Given the description of an element on the screen output the (x, y) to click on. 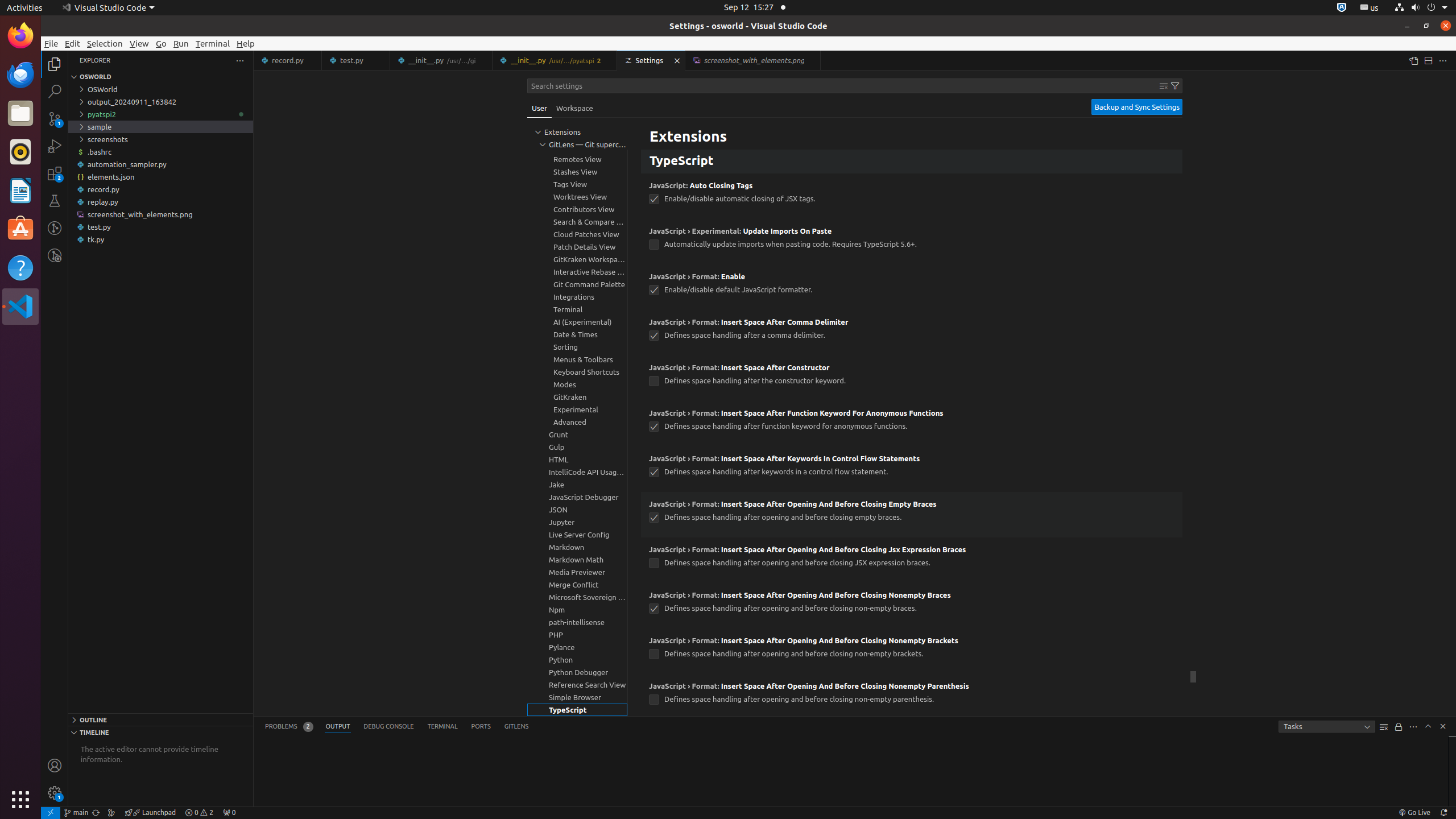
sample Element type: tree-item (160, 126)
OSWorld Element type: tree-item (160, 89)
No Ports Forwarded Element type: push-button (228, 812)
Filter Settings Element type: push-button (1174, 85)
